Given the description of an element on the screen output the (x, y) to click on. 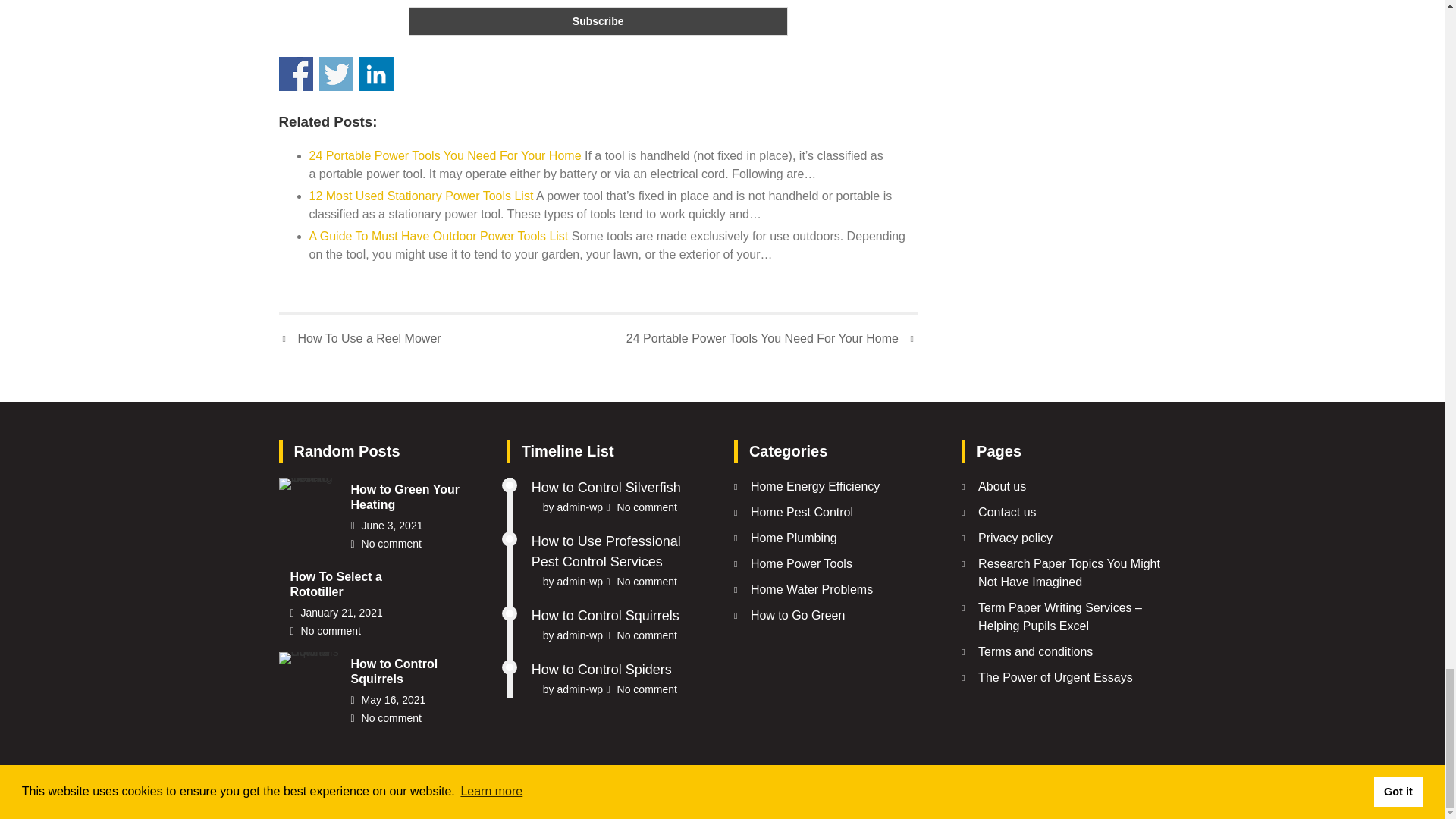
Share on Facebook (296, 73)
24 Portable Power Tools You Need For Your Home (444, 155)
How To Use a Reel Mower (360, 339)
A Guide To Must Have Outdoor Power Tools List (438, 236)
24 Portable Power Tools You Need For Your Home (771, 339)
Share on Linkedin (376, 73)
Subscribe (598, 21)
Share on Twitter (335, 73)
12 Most Used Stationary Power Tools List (421, 195)
Subscribe (598, 21)
